Given the description of an element on the screen output the (x, y) to click on. 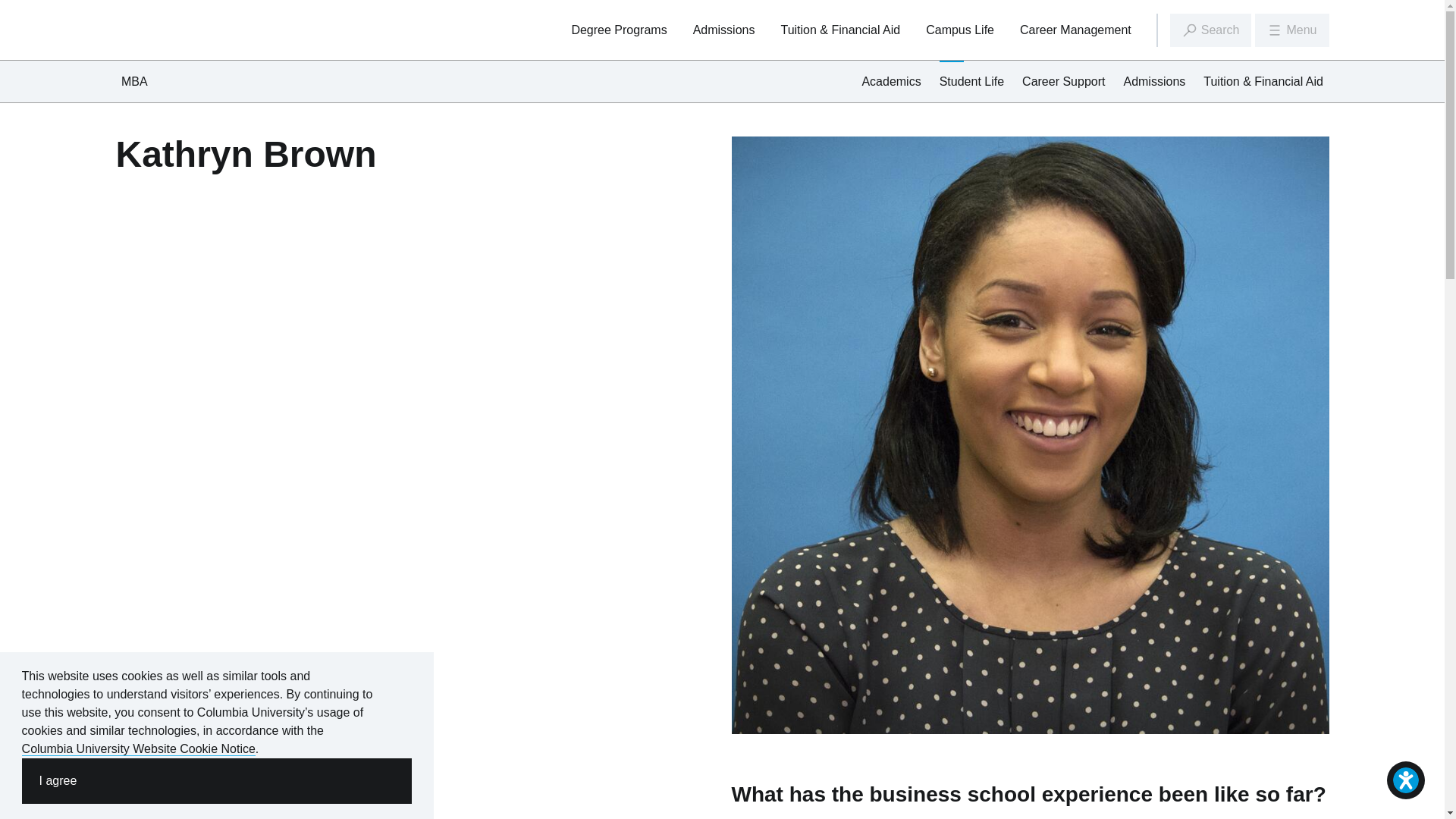
Career Management (1075, 29)
Official Logo of Columbia Business School (164, 29)
Campus Life (959, 29)
Skip to main content (722, 1)
Degree Programs (618, 29)
Admissions (723, 29)
